Given the description of an element on the screen output the (x, y) to click on. 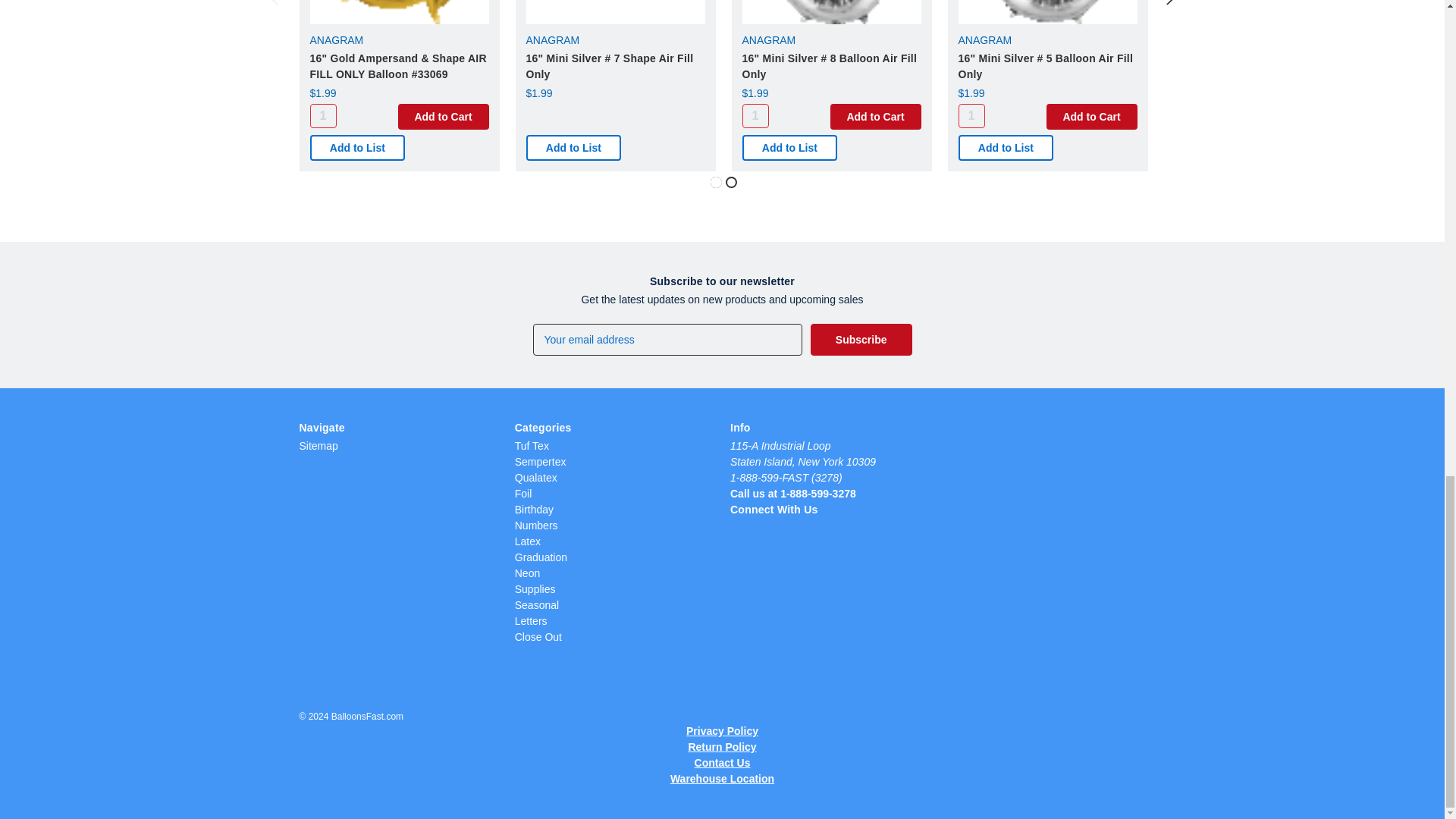
Facebook (792, 530)
Instagram (737, 530)
1 (754, 115)
1 (971, 115)
Add to Cart (1091, 116)
small gold ampersand balloon (397, 12)
Add to Cart (874, 116)
Twitter (765, 530)
Add to Cart (442, 116)
1 (322, 115)
